Given the description of an element on the screen output the (x, y) to click on. 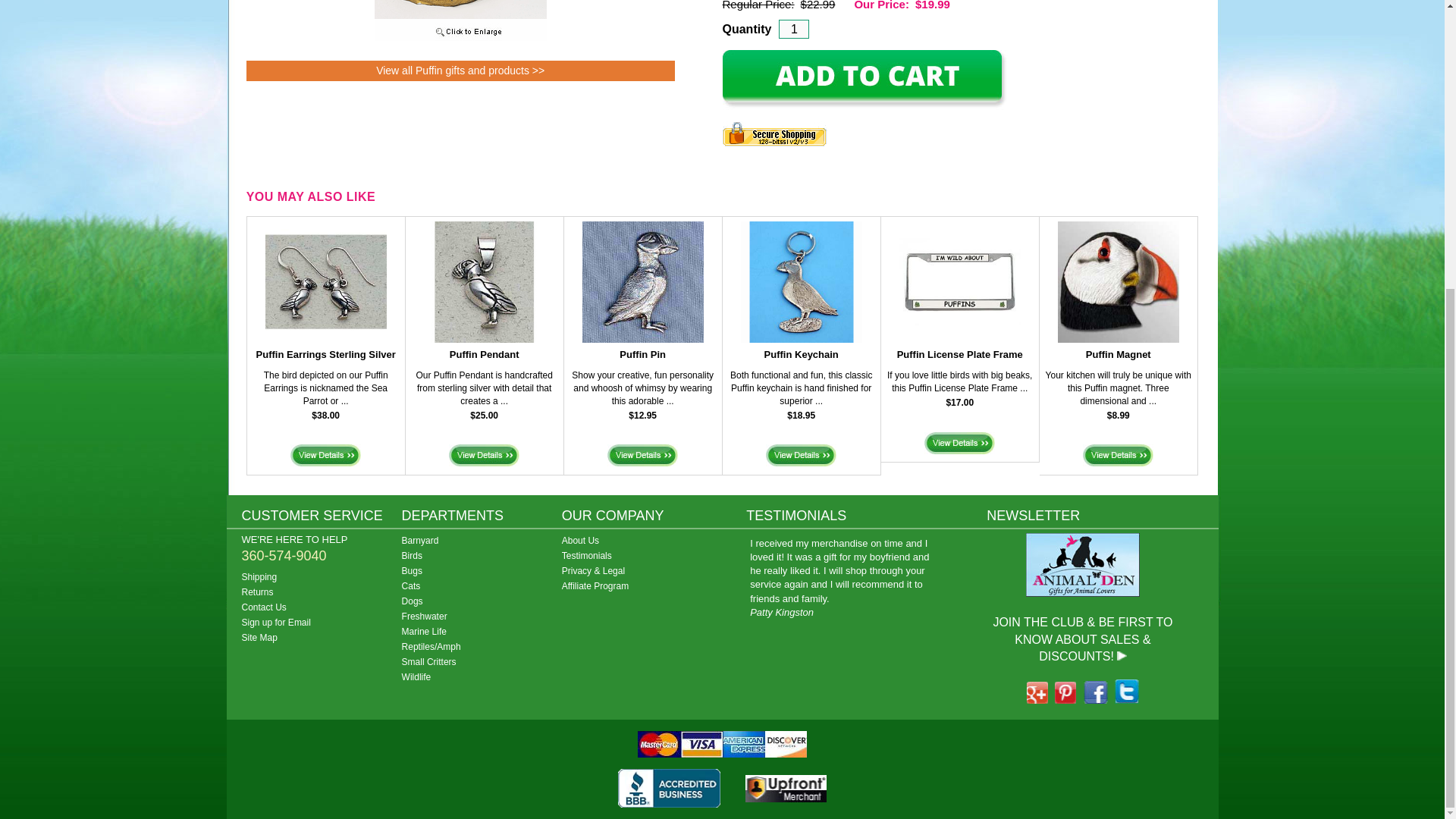
Puffin Earrings Sterling Silver (326, 354)
Add to Cart (864, 79)
View Details of Puffin Earrings Sterling Silver (325, 455)
View Details of Puffin Magnet (1118, 455)
Puffin Pendant (484, 354)
Returns (321, 591)
View Details of Puffin Pin (642, 455)
Puffin Pin (642, 354)
Puffin Keychain (801, 354)
Contact Us (321, 607)
1 (793, 28)
View Details of Puffin Keychain (800, 455)
Puffin Figurine (460, 37)
View Details of Puffin License Plate Frame (959, 443)
View Details of Puffin Pendant (483, 455)
